Given the description of an element on the screen output the (x, y) to click on. 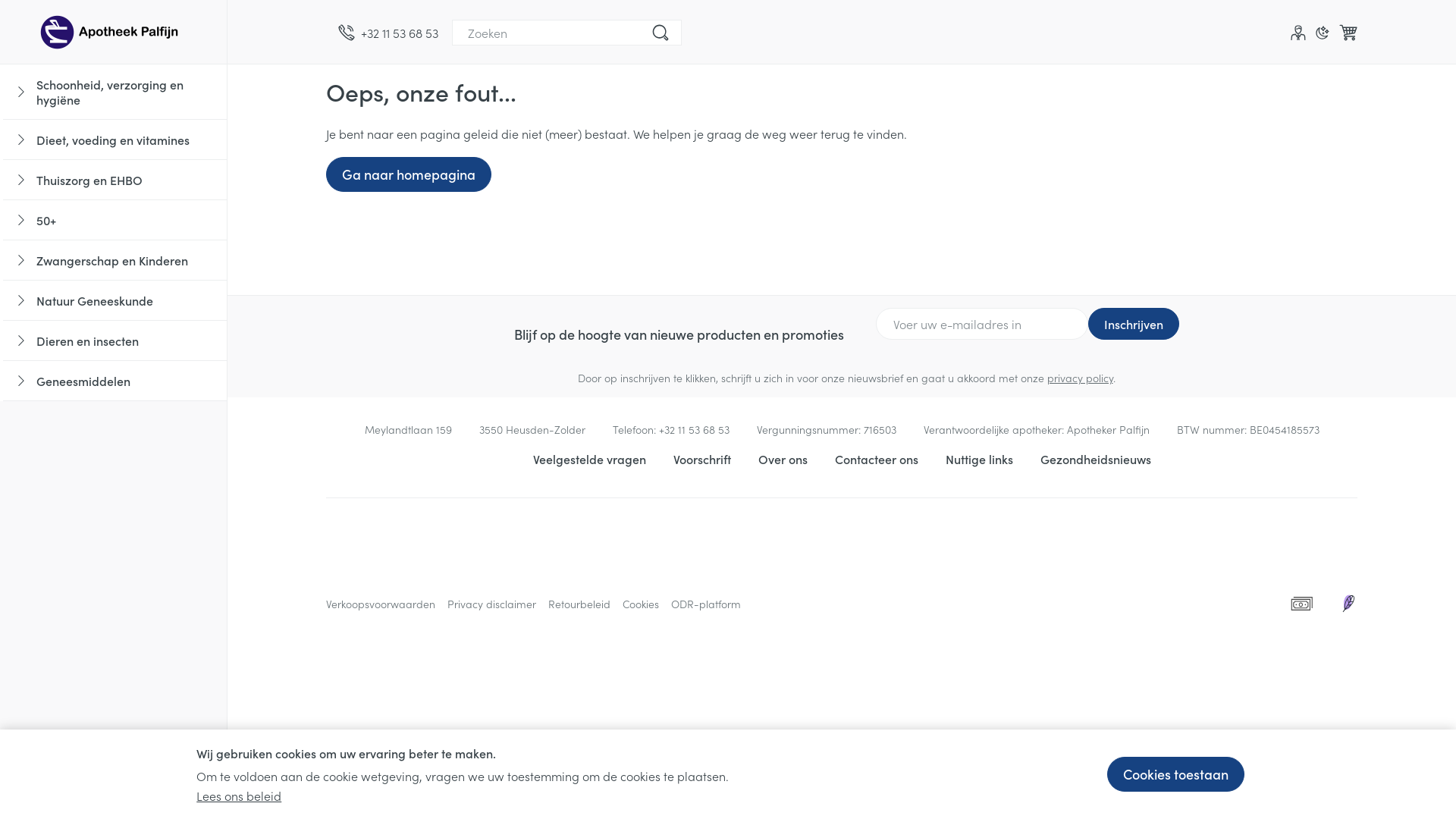
Winkelwagen Element type: text (1348, 32)
Zwangerschap en Kinderen Element type: text (114, 260)
Nuttige links Element type: text (978, 458)
Zoeken Element type: text (660, 32)
Thuiszorg en EHBO Element type: text (114, 180)
Privacy disclaimer Element type: text (491, 603)
Donkere modus Element type: text (1322, 32)
Gezondheidsnieuws Element type: text (1095, 458)
Verkoopsvoorwaarden Element type: text (380, 603)
Geneesmiddelen Element type: text (114, 380)
+32 11 53 68 53 Element type: text (693, 428)
Cookies toestaan Element type: text (1175, 773)
+32 11 53 68 53 Element type: text (388, 32)
Dieet, voeding en vitamines Element type: text (114, 139)
Ga naar de inhoud Element type: text (226, 63)
Veelgestelde vragen Element type: text (588, 458)
Apotheek Palfijn Element type: hover (113, 31)
Cookies Element type: text (640, 603)
50+ Element type: text (114, 220)
Apotheek Palfijn Element type: hover (113, 31)
Retourbeleid Element type: text (579, 603)
Inschrijven Element type: text (1132, 323)
privacy policy Element type: text (1079, 377)
Contacteer ons Element type: text (875, 458)
Klant menu Element type: text (1297, 32)
Ga naar homepagina Element type: text (408, 173)
Natuur Geneeskunde Element type: text (114, 300)
ODR-platform Element type: text (705, 603)
Over ons Element type: text (782, 458)
Dieren en insecten Element type: text (114, 340)
Lees ons beleid Element type: text (238, 795)
Voorschrift Element type: text (702, 458)
